Given the description of an element on the screen output the (x, y) to click on. 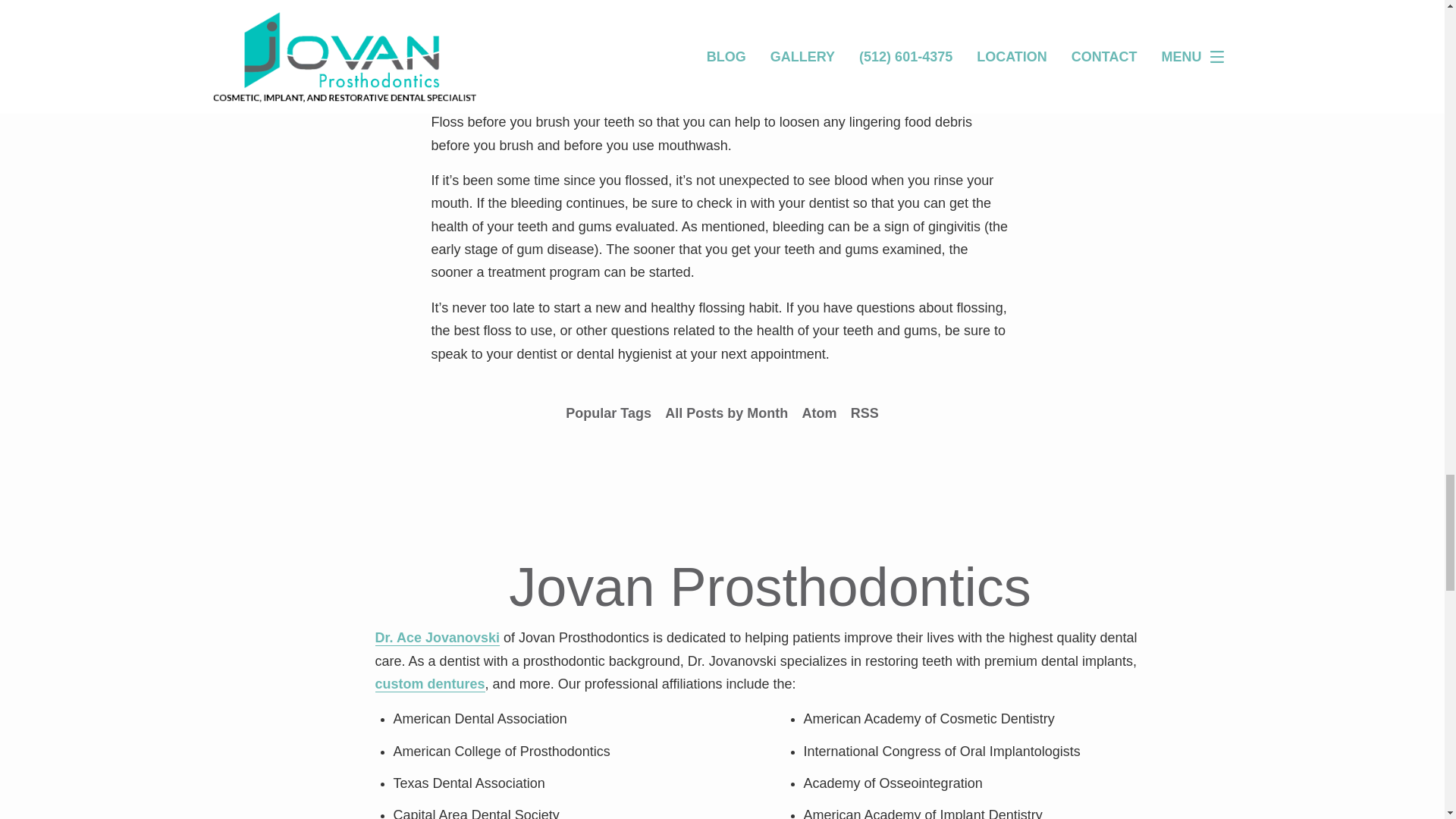
Popular Tags (608, 413)
RSS (864, 413)
Dr. Ace Jovanovski (437, 637)
All Posts by Month (726, 413)
Atom (818, 413)
custom dentures (429, 684)
